Given the description of an element on the screen output the (x, y) to click on. 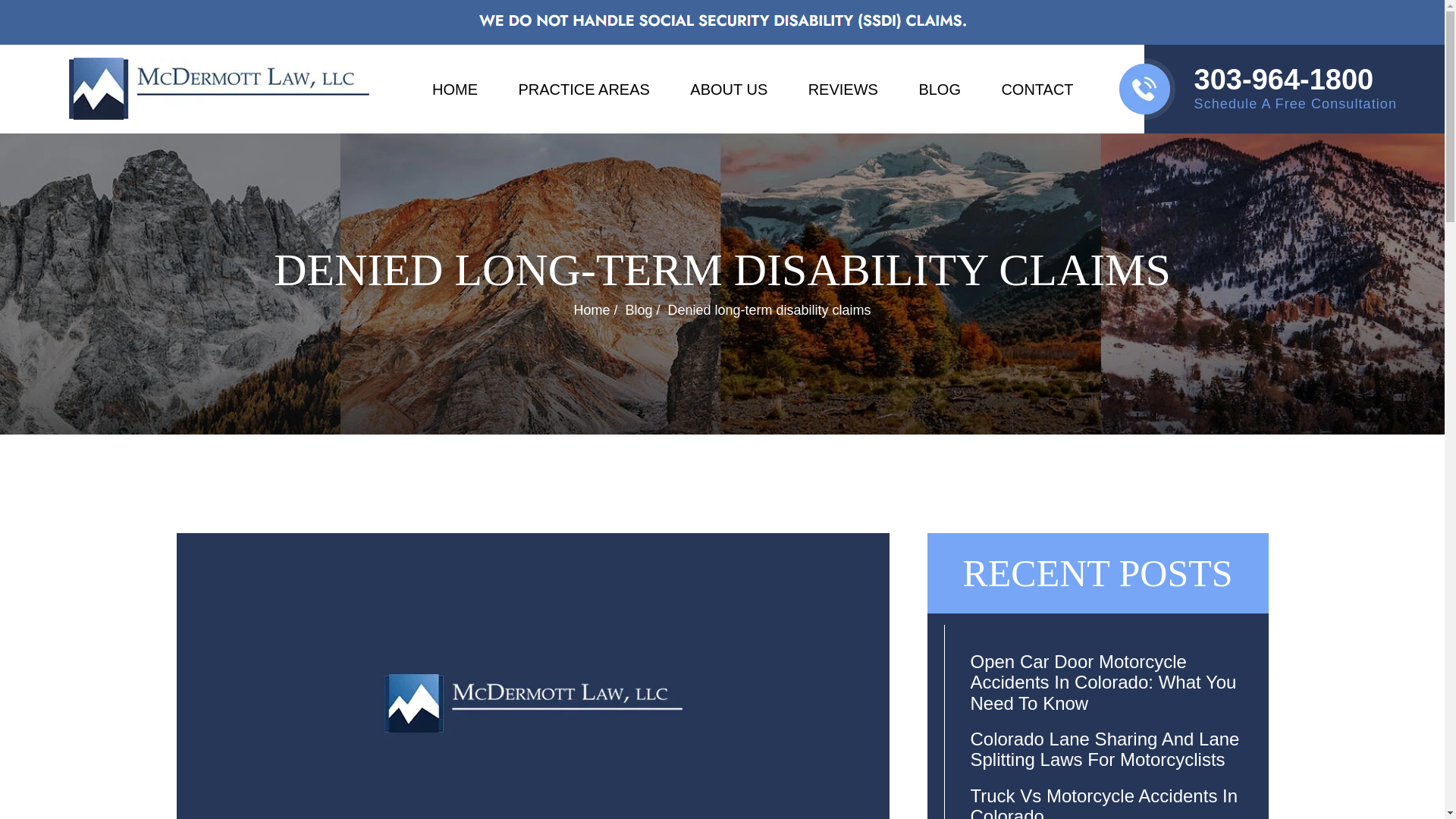
BLOG (939, 84)
CONTACT (1037, 84)
303-964-1800 (1294, 79)
PRACTICE AREAS (583, 84)
HOME (454, 84)
Go to Blog. (638, 309)
Go to McDermott Law, LLC. (591, 309)
REVIEWS (842, 84)
ABOUT US (728, 84)
